Given the description of an element on the screen output the (x, y) to click on. 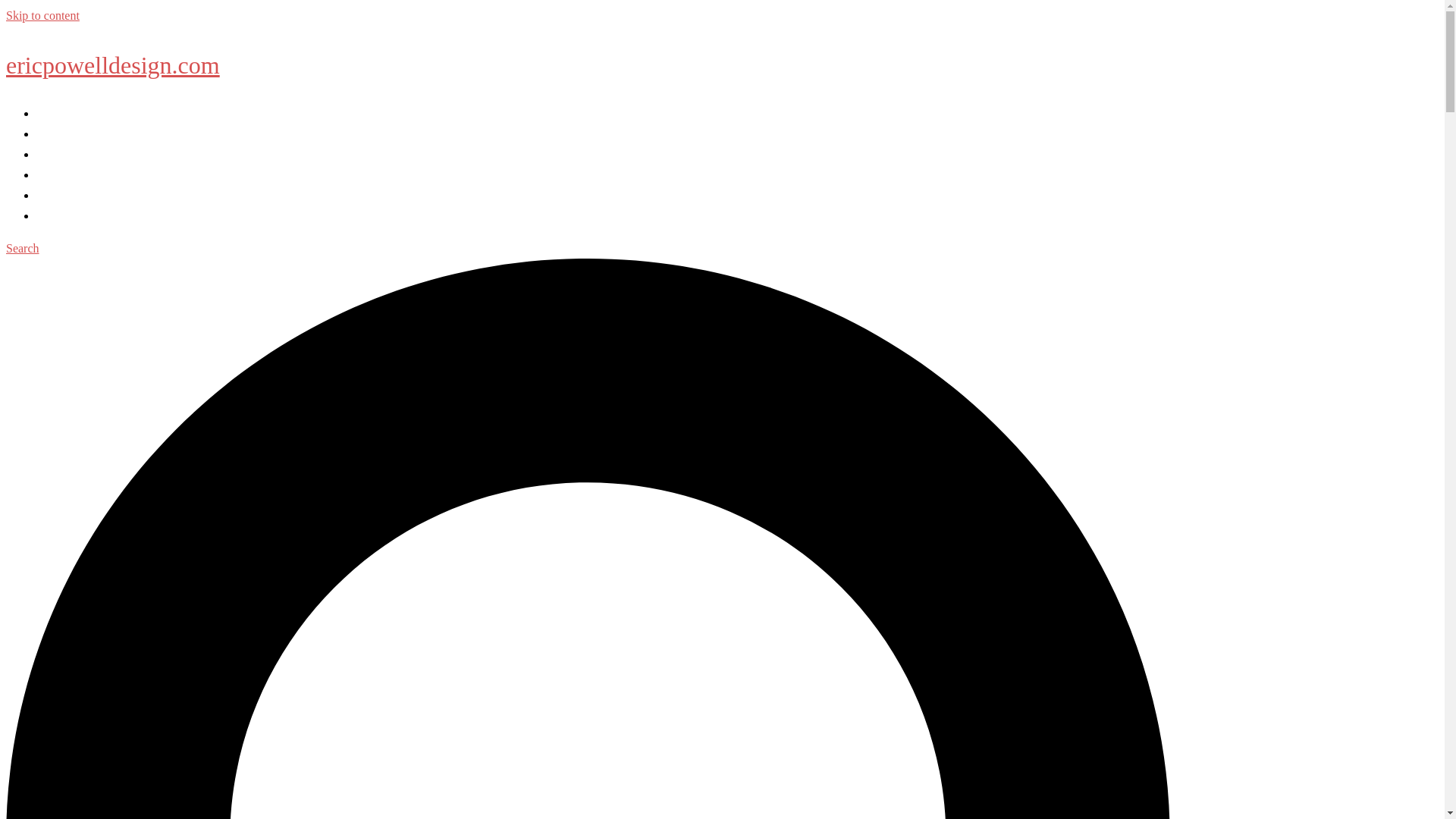
Home (50, 113)
COCK FIGHTING (83, 215)
ericpowelldesign.com (112, 64)
SPORTSBOOK (75, 195)
SLOT (51, 174)
POKER (55, 154)
Skip to content (42, 15)
CASINO (58, 133)
